Given the description of an element on the screen output the (x, y) to click on. 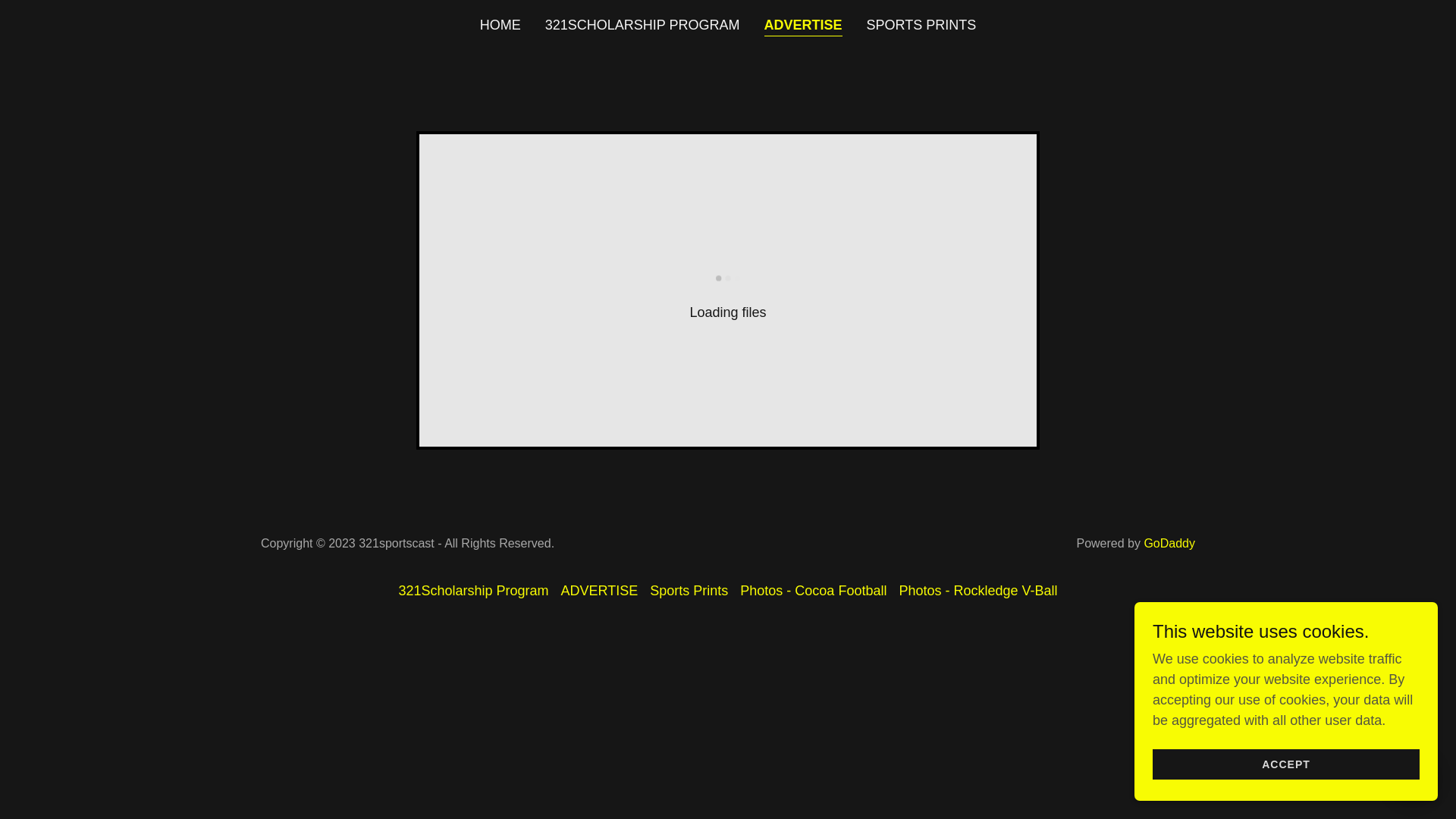
Photos - Cocoa Football Element type: text (813, 591)
ADVERTISE Element type: text (599, 591)
321SCHOLARSHIP PROGRAM Element type: text (642, 24)
GoDaddy Element type: text (1169, 542)
ACCEPT Element type: text (1285, 764)
Sports Prints Element type: text (688, 591)
321Scholarship Program Element type: text (473, 591)
Photos - Rockledge V-Ball Element type: text (977, 591)
SPORTS PRINTS Element type: text (921, 24)
HOME Element type: text (500, 24)
ADVERTISE Element type: text (803, 25)
